Given the description of an element on the screen output the (x, y) to click on. 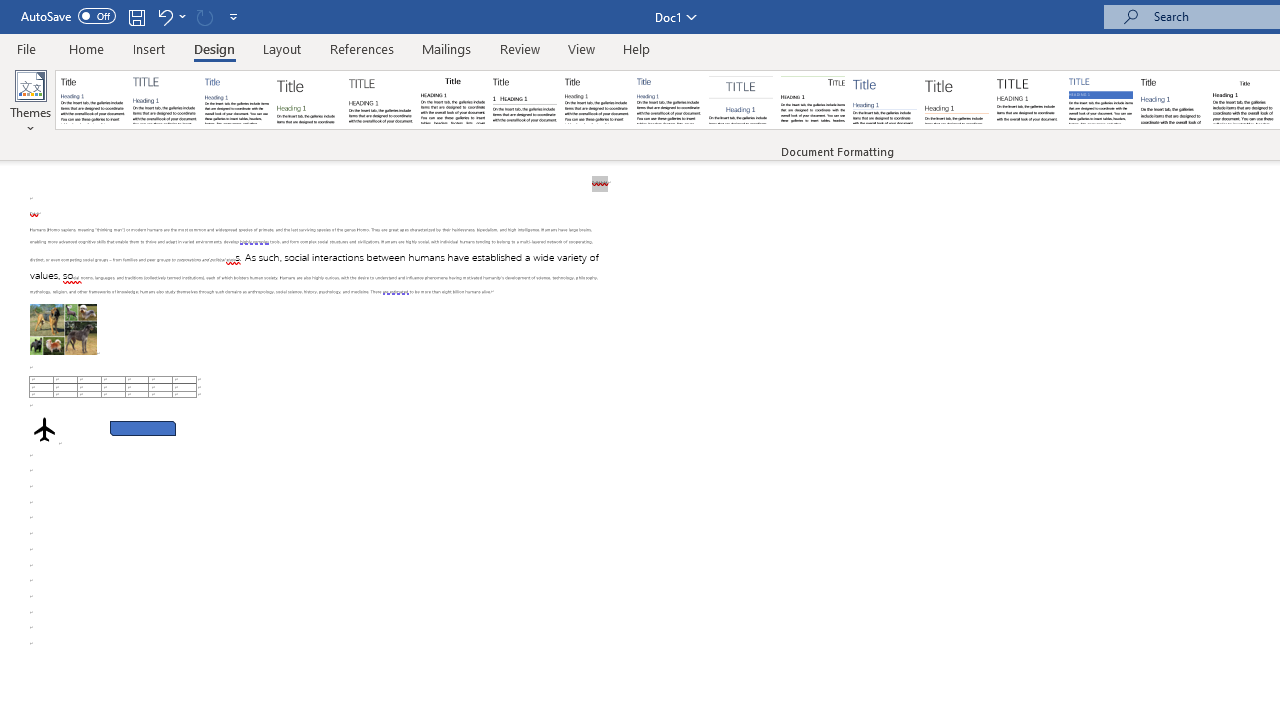
Document (93, 100)
Undo Apply Quick Style Set (170, 15)
Casual (669, 100)
Basic (Elegant) (164, 100)
Undo Apply Quick Style Set (164, 15)
Black & White (Numbered) (524, 100)
Centered (740, 100)
